Given the description of an element on the screen output the (x, y) to click on. 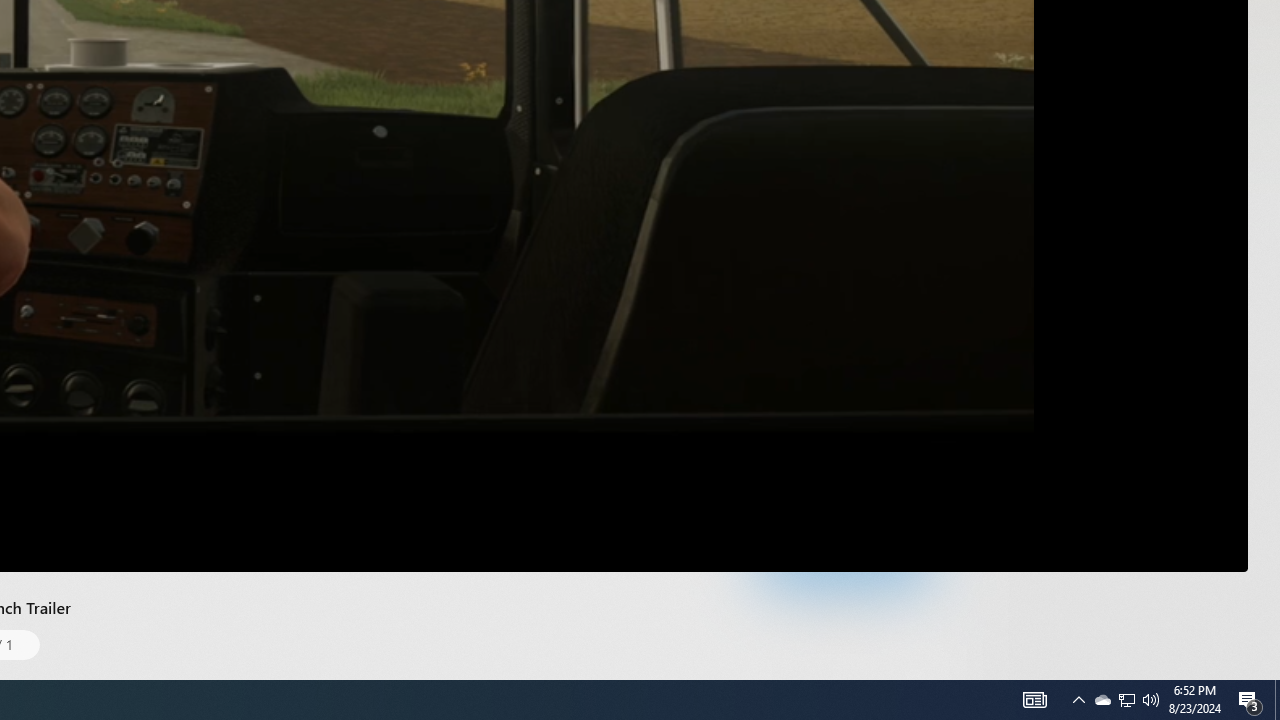
Open Xbox App (844, 603)
Explore PC Game Pass (844, 560)
Buy as gift (909, 456)
Share (950, 456)
